Given the description of an element on the screen output the (x, y) to click on. 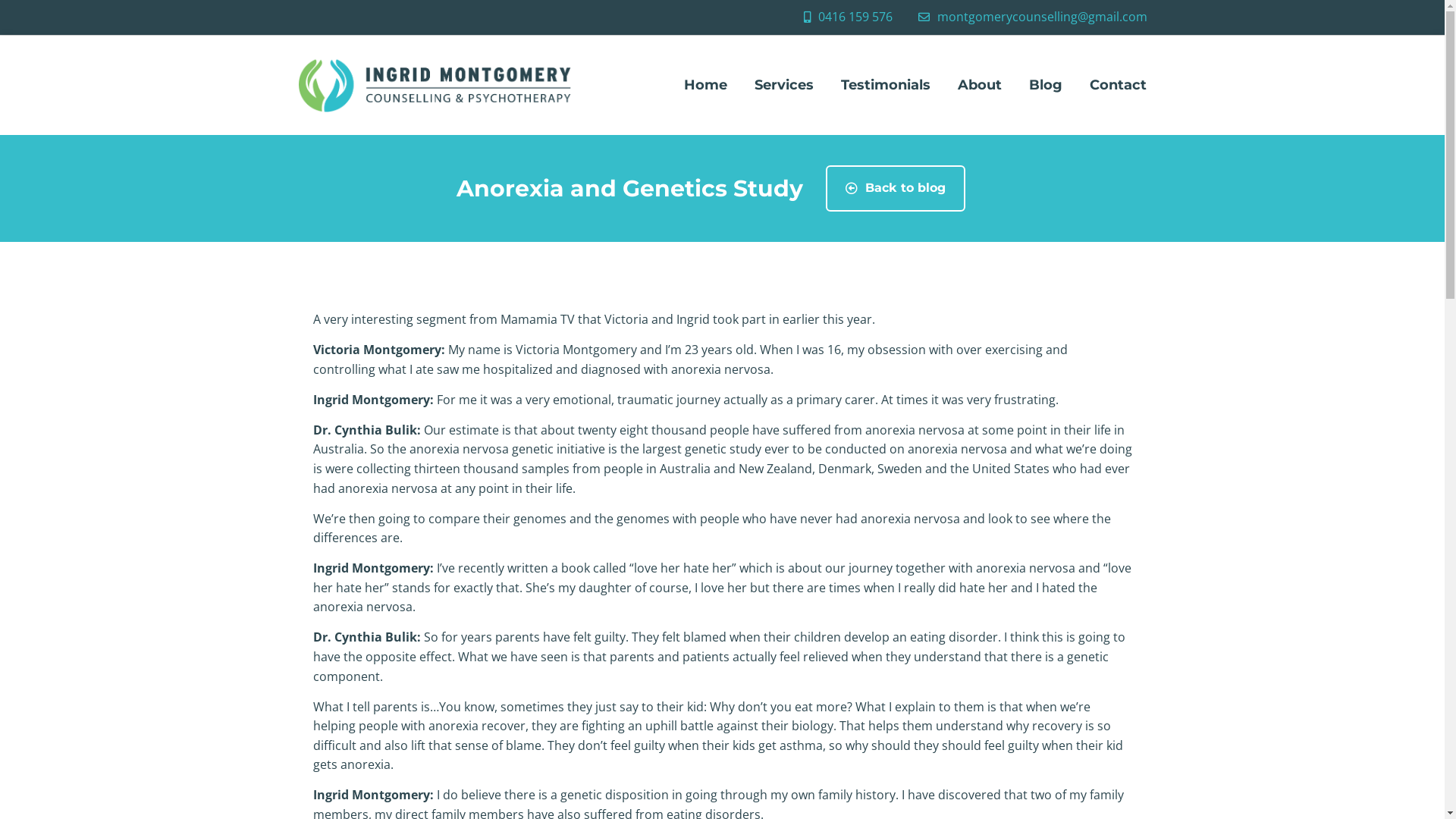
montgomerycounselling@gmail.com Element type: text (1031, 17)
Blog Element type: text (1045, 84)
Contact Element type: text (1117, 84)
Back to blog Element type: text (895, 188)
Testimonials Element type: text (885, 84)
0416 159 576 Element type: text (844, 17)
Home Element type: text (705, 84)
About Element type: text (979, 84)
Services Element type: text (783, 84)
